Given the description of an element on the screen output the (x, y) to click on. 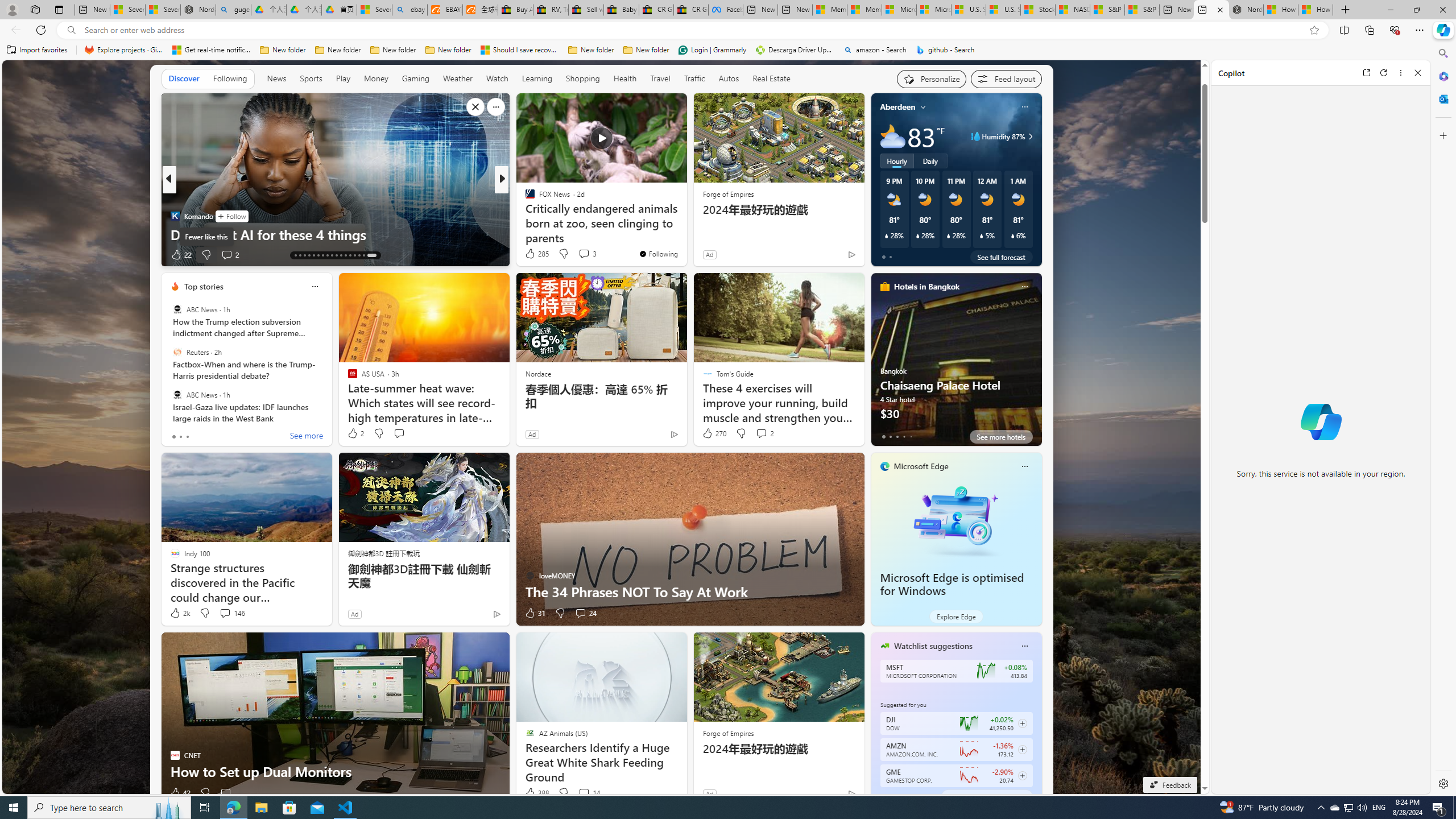
AutomationID: tab-20 (327, 255)
View comments 2 Comment (764, 433)
tab-4 (910, 795)
tab-3 (903, 795)
Play (342, 78)
Reuters (176, 352)
AutomationID: tab-17 (313, 255)
View comments 146 Comment (224, 613)
View comments 2 Comment (761, 432)
